Given the description of an element on the screen output the (x, y) to click on. 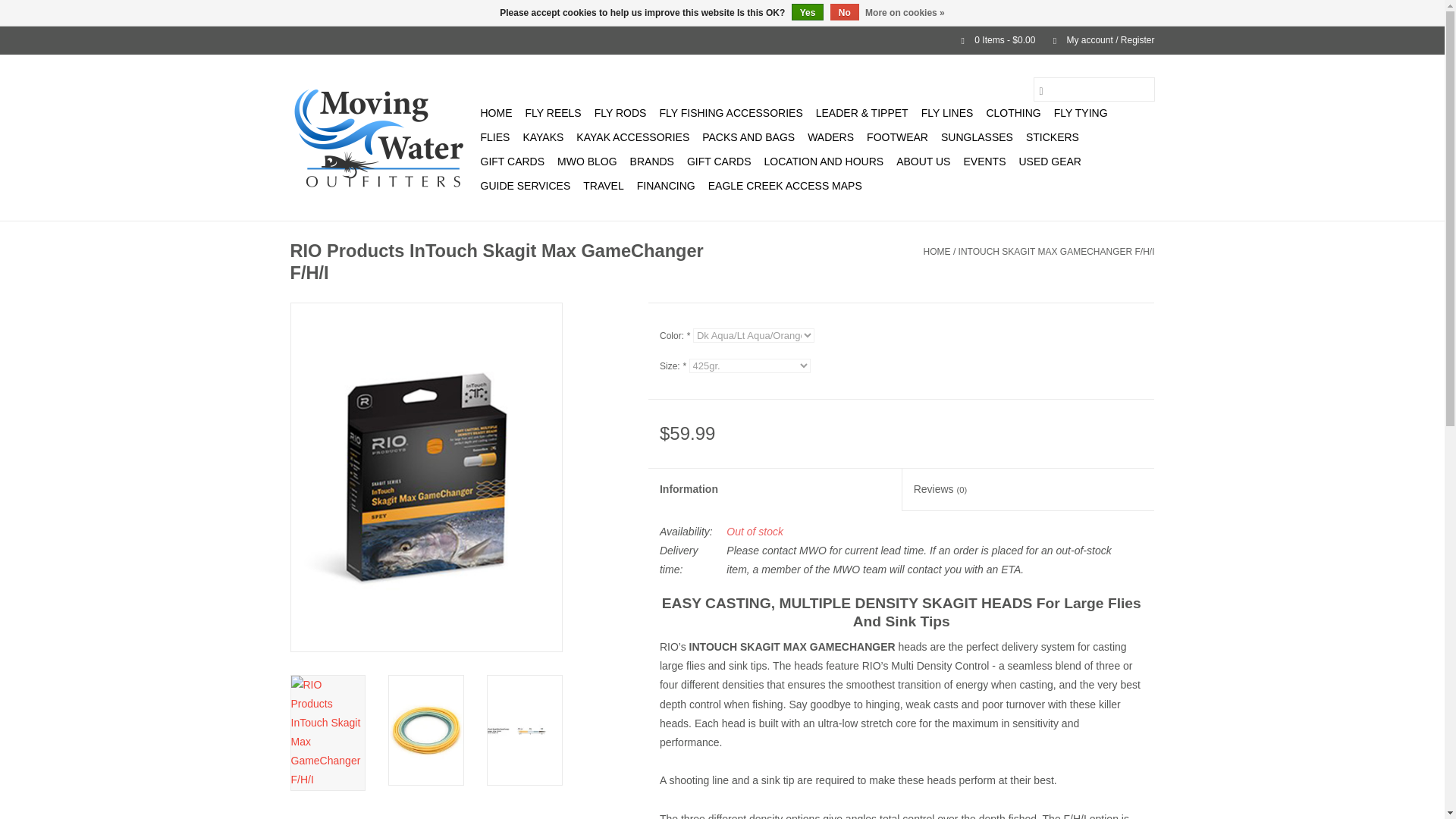
FLIES (495, 137)
Cart (992, 40)
FLY RODS (619, 112)
FLY LINES (947, 112)
Fly Reels (552, 112)
Moving Water Outfitters - Home (382, 137)
FLY REELS (552, 112)
FLY TYING (1080, 112)
CLOTHING (1013, 112)
My account (1096, 40)
